Given the description of an element on the screen output the (x, y) to click on. 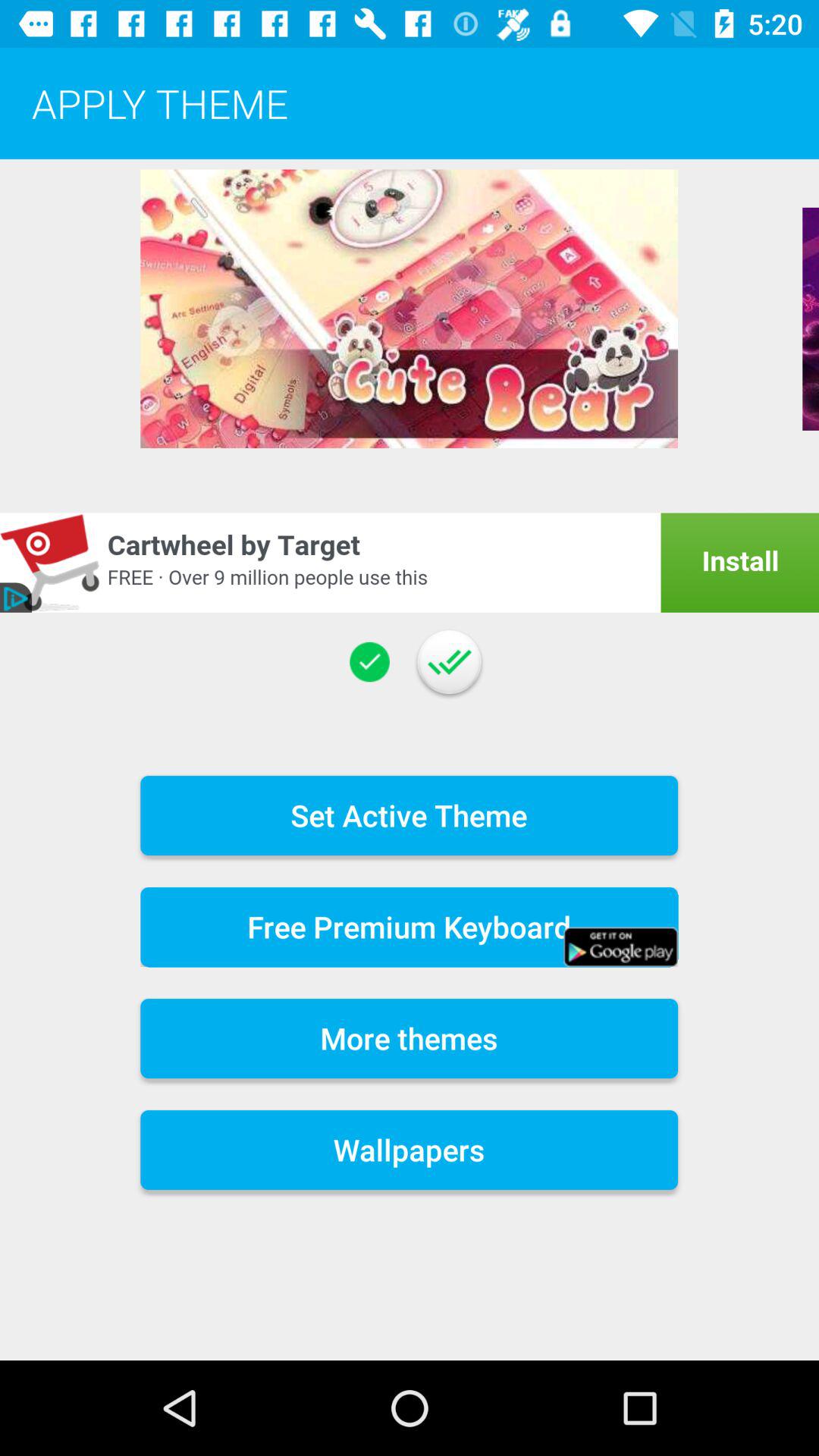
turn off the item below set active theme item (408, 926)
